Given the description of an element on the screen output the (x, y) to click on. 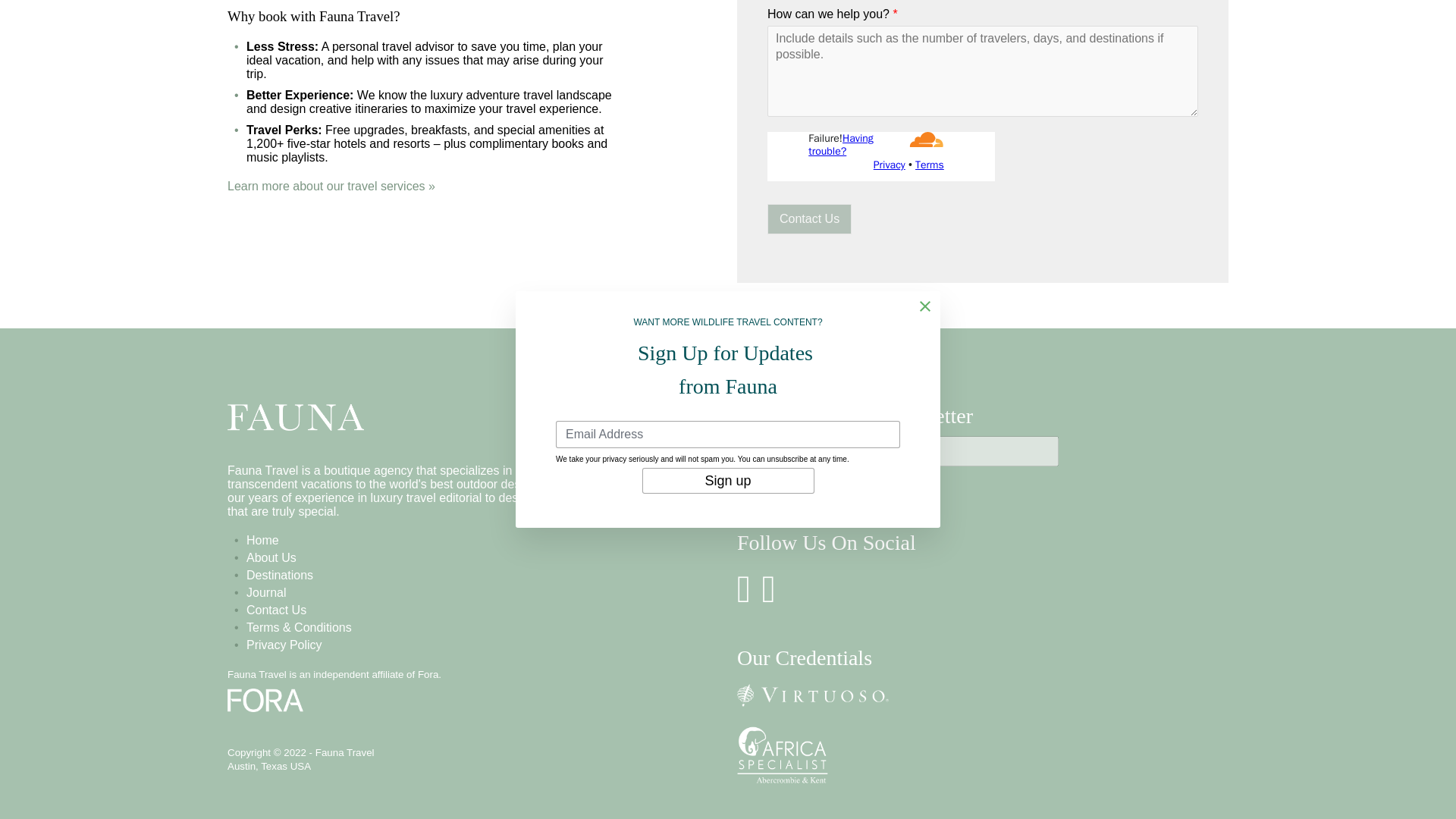
Subscribe (776, 487)
wpforms-submit (809, 218)
